Given the description of an element on the screen output the (x, y) to click on. 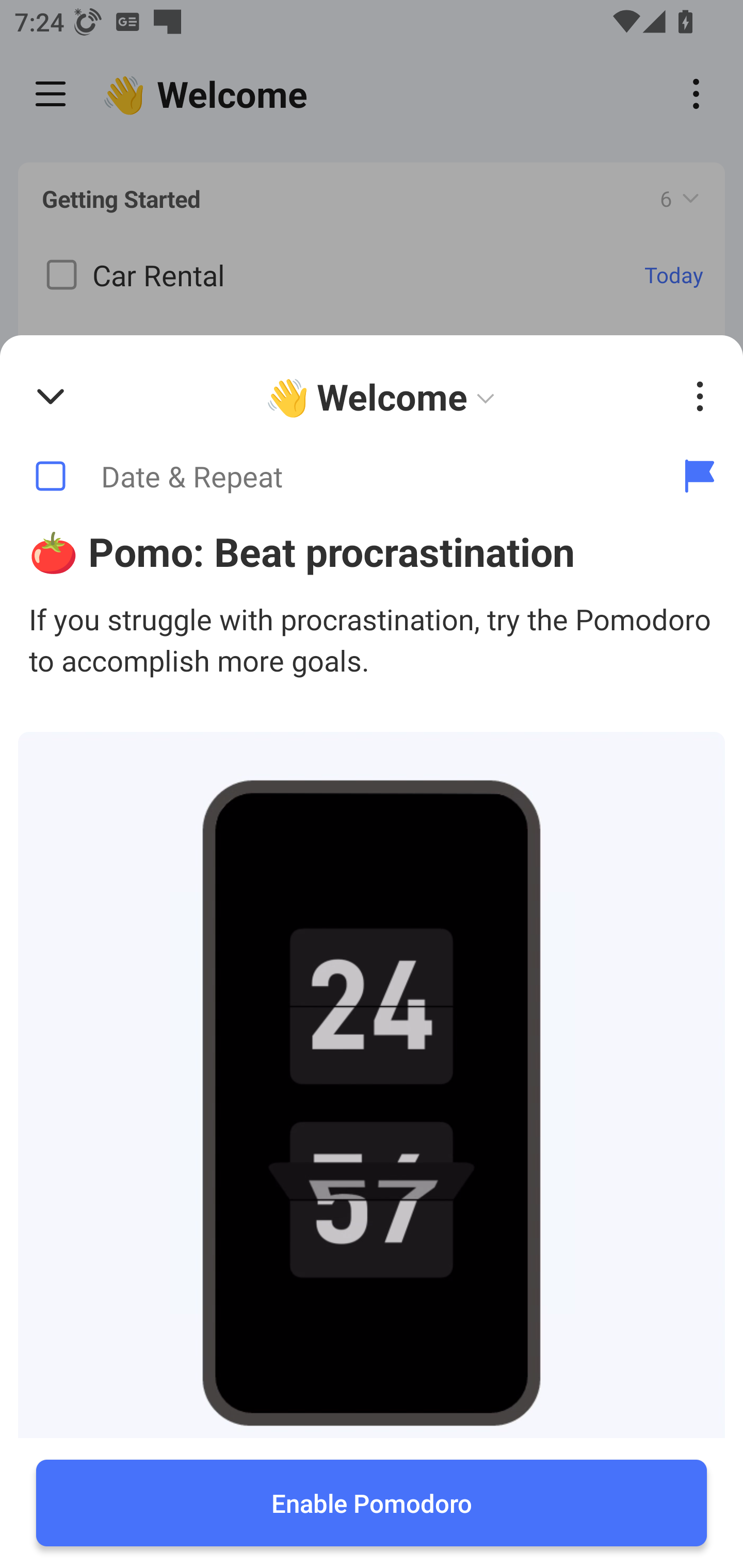
👋 Welcome (384, 396)
Date & Repeat (328, 476)
🍅 Pomo: Beat procrastination (371, 551)
Enable Pomodoro (371, 1502)
